Given the description of an element on the screen output the (x, y) to click on. 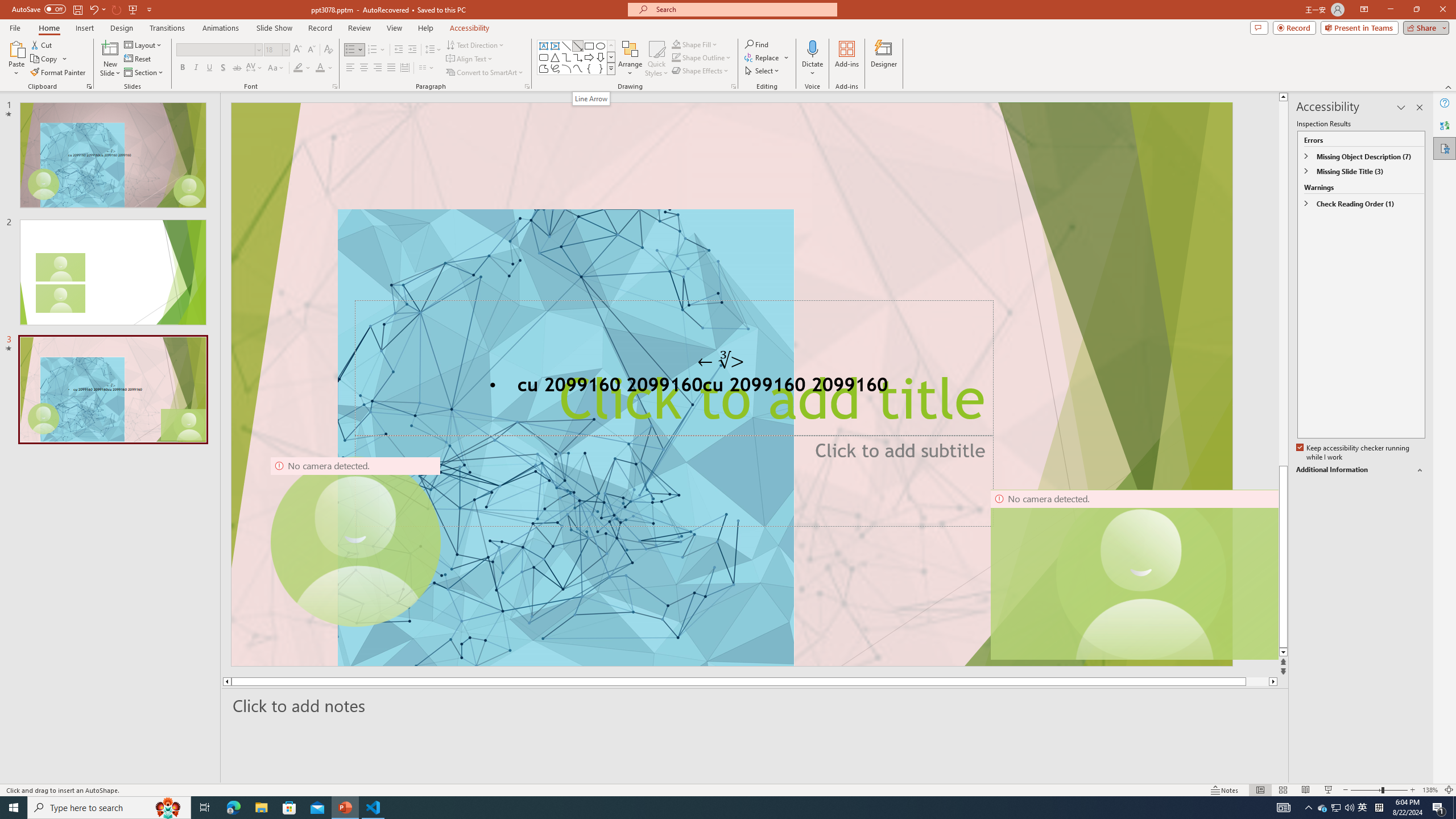
Office Clipboard... (88, 85)
Reset (138, 58)
Strikethrough (237, 67)
Shape Outline (701, 56)
Layout (143, 44)
